Given the description of an element on the screen output the (x, y) to click on. 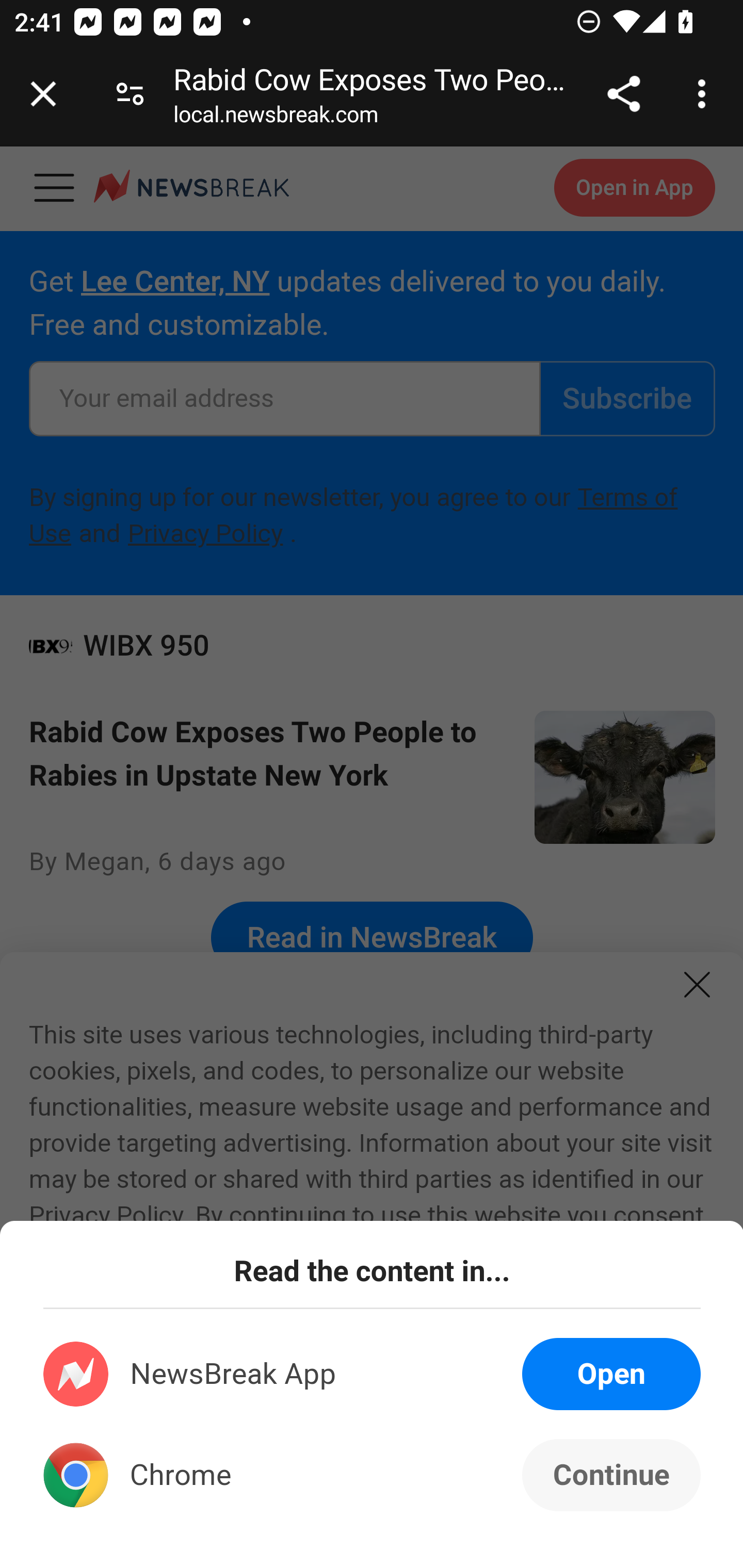
Close tab (43, 93)
Share link address (623, 93)
Customize and control Google Chrome (705, 93)
Connection is secure (129, 93)
local.newsbreak.com (275, 117)
Download App NewsBreak App NewsBreak App Open (372, 1374)
Open (611, 1374)
Accept Cookies (231, 1458)
Continue (611, 1475)
